Given the description of an element on the screen output the (x, y) to click on. 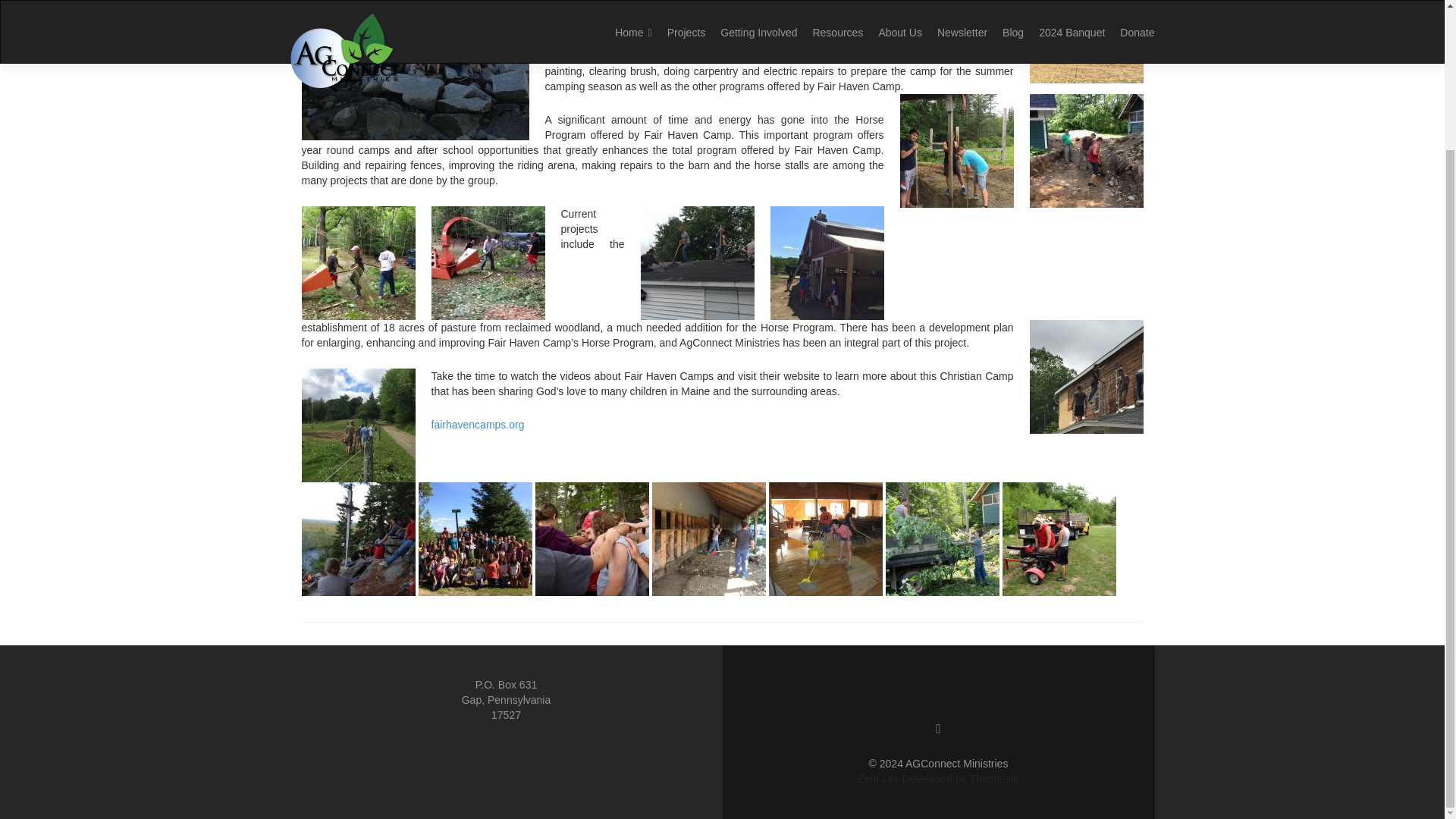
fairhavencamps.org (477, 424)
Zerif Lite (879, 778)
ThemeIsle (994, 778)
